Given the description of an element on the screen output the (x, y) to click on. 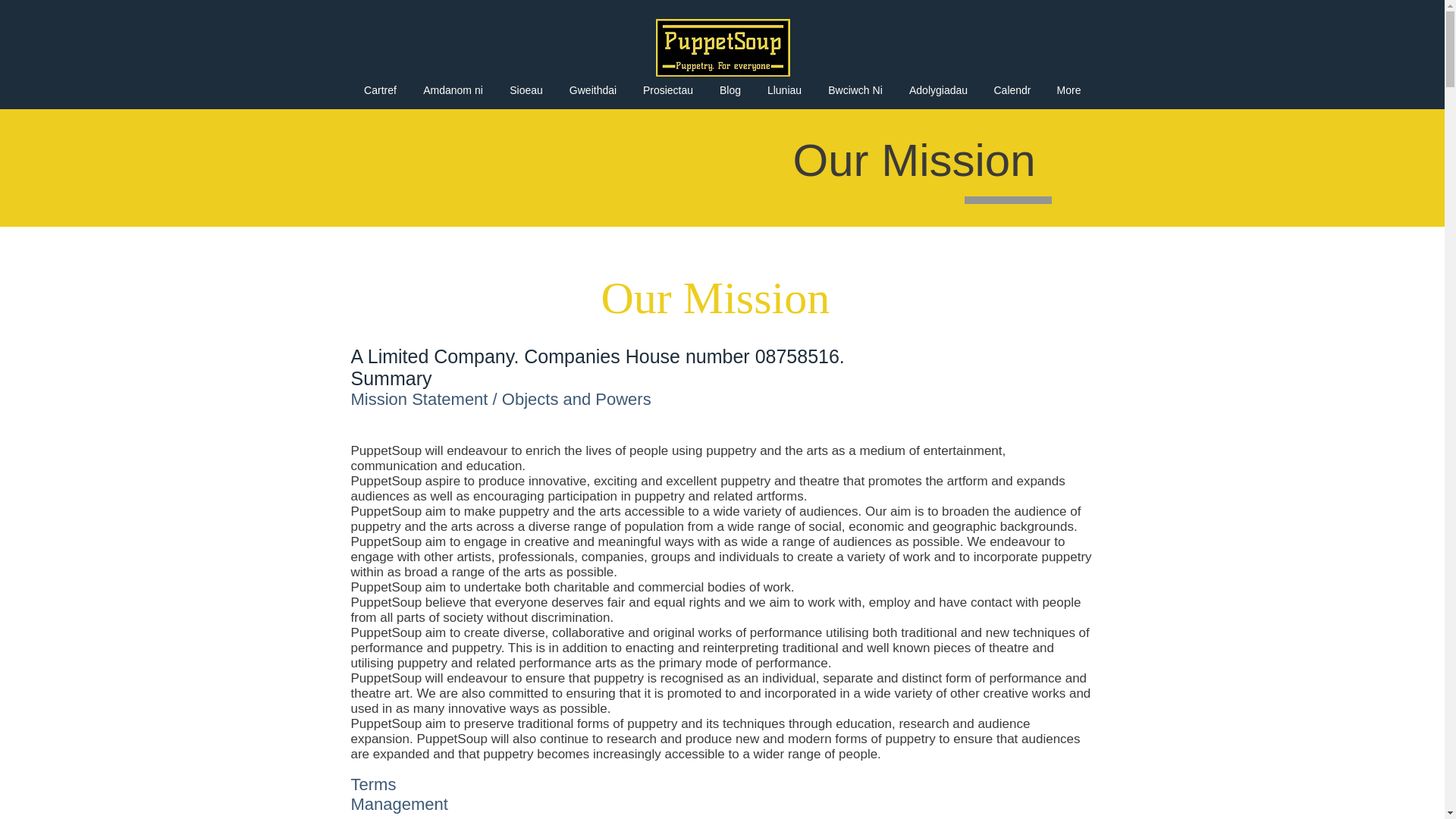
Blog (730, 89)
Adolygiadau (938, 89)
Amdanom ni (452, 89)
Cartref (379, 89)
Bwciwch Ni (854, 89)
Prosiectau (667, 89)
Gweithdai (593, 89)
Sioeau (526, 89)
Lluniau (783, 89)
Calendr (1012, 89)
